Given the description of an element on the screen output the (x, y) to click on. 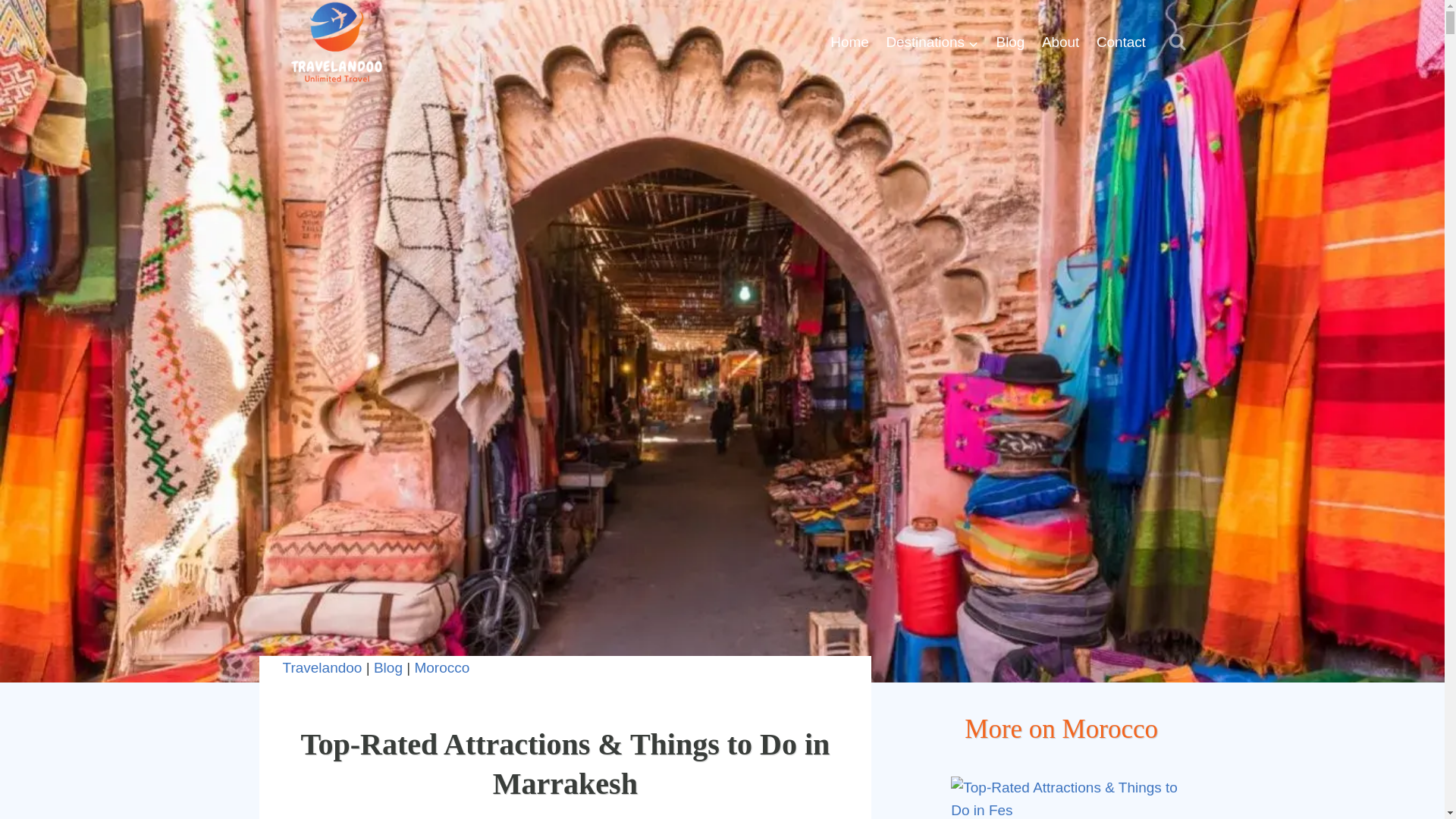
Travelandoo (321, 667)
Contact (1120, 42)
Blog (388, 667)
Home (849, 42)
About (1060, 42)
Destinations (932, 42)
Morocco (440, 667)
Blog (1009, 42)
